Given the description of an element on the screen output the (x, y) to click on. 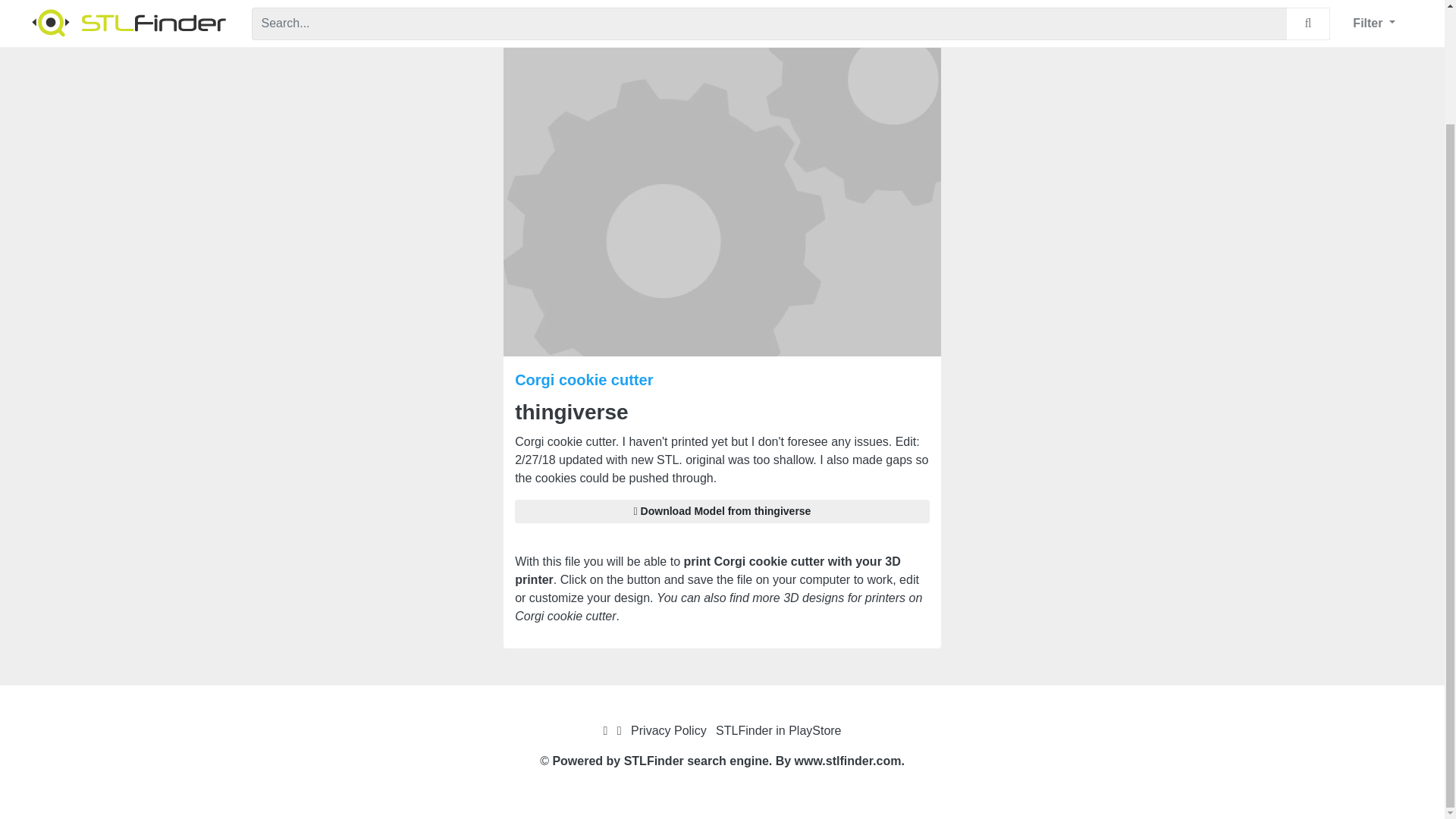
Download Model from thingiverse (722, 511)
STLFinder in PlayStore (778, 730)
www.stlfinder.com (847, 760)
Privacy Policy (668, 730)
